Given the description of an element on the screen output the (x, y) to click on. 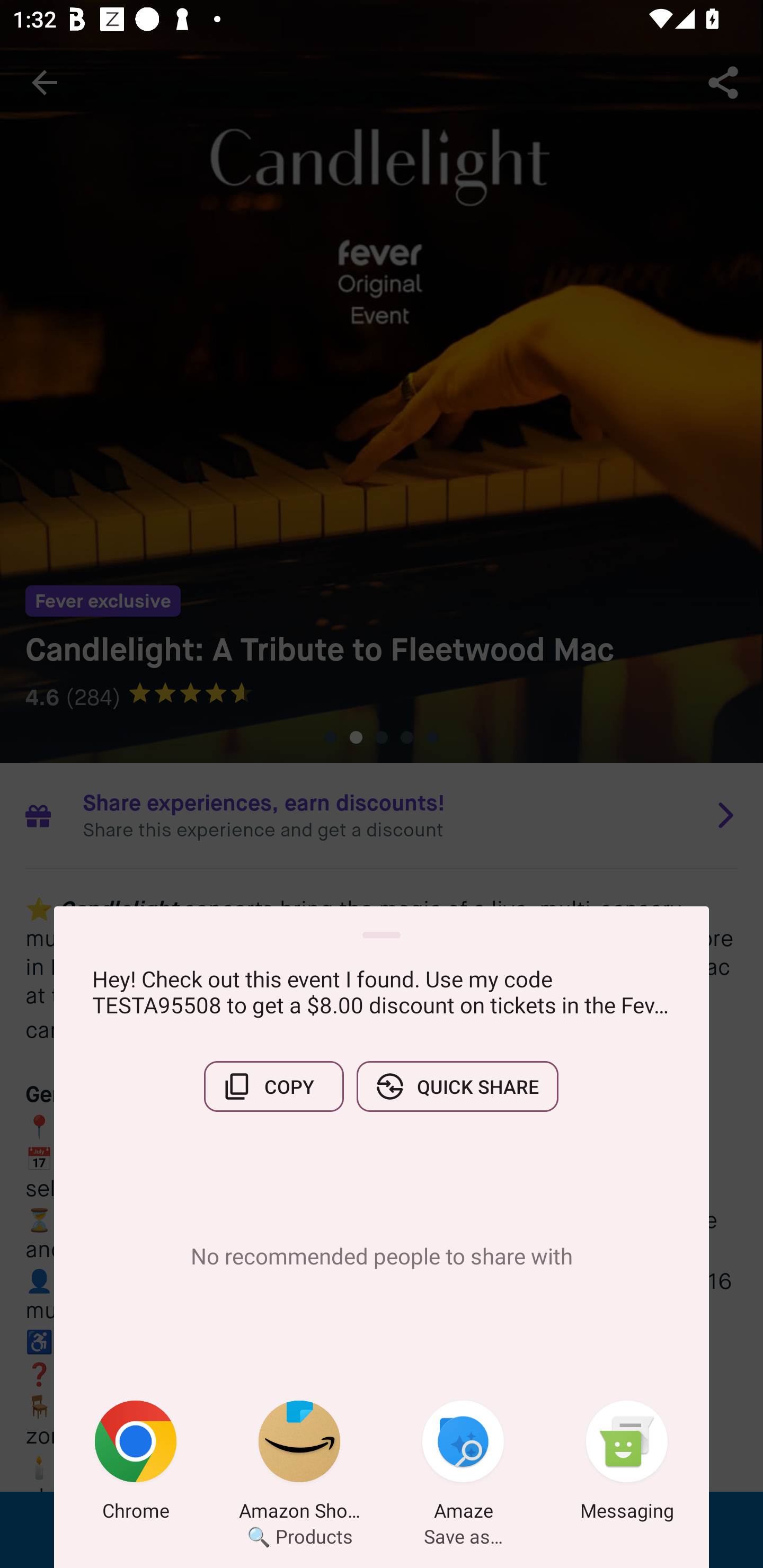
COPY (273, 1086)
QUICK SHARE (457, 1086)
Chrome (135, 1463)
Amazon Shopping 🔍 Products (299, 1463)
Amaze Save as… (463, 1463)
Messaging (626, 1463)
